Given the description of an element on the screen output the (x, y) to click on. 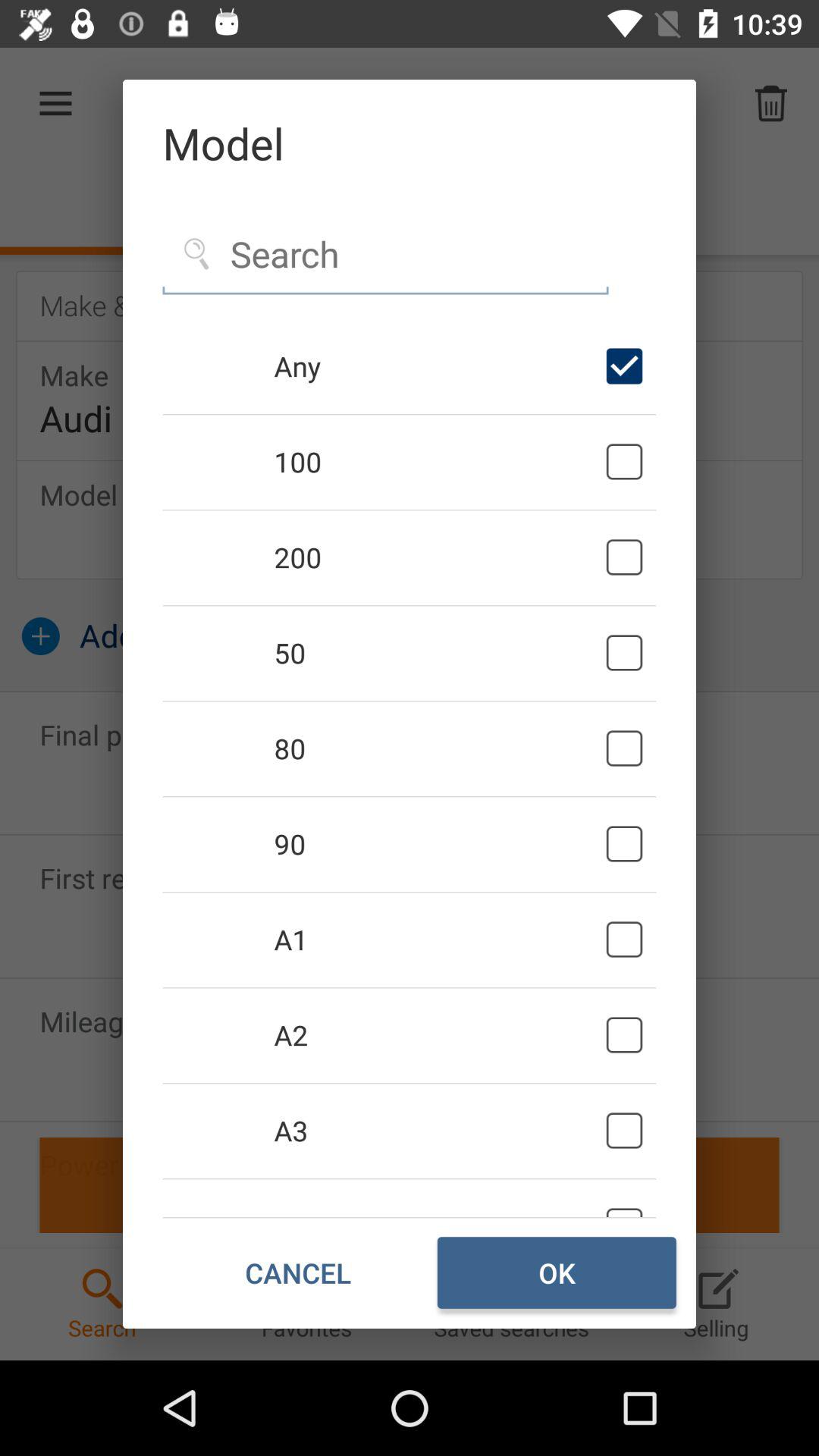
scroll to the ok item (556, 1272)
